Given the description of an element on the screen output the (x, y) to click on. 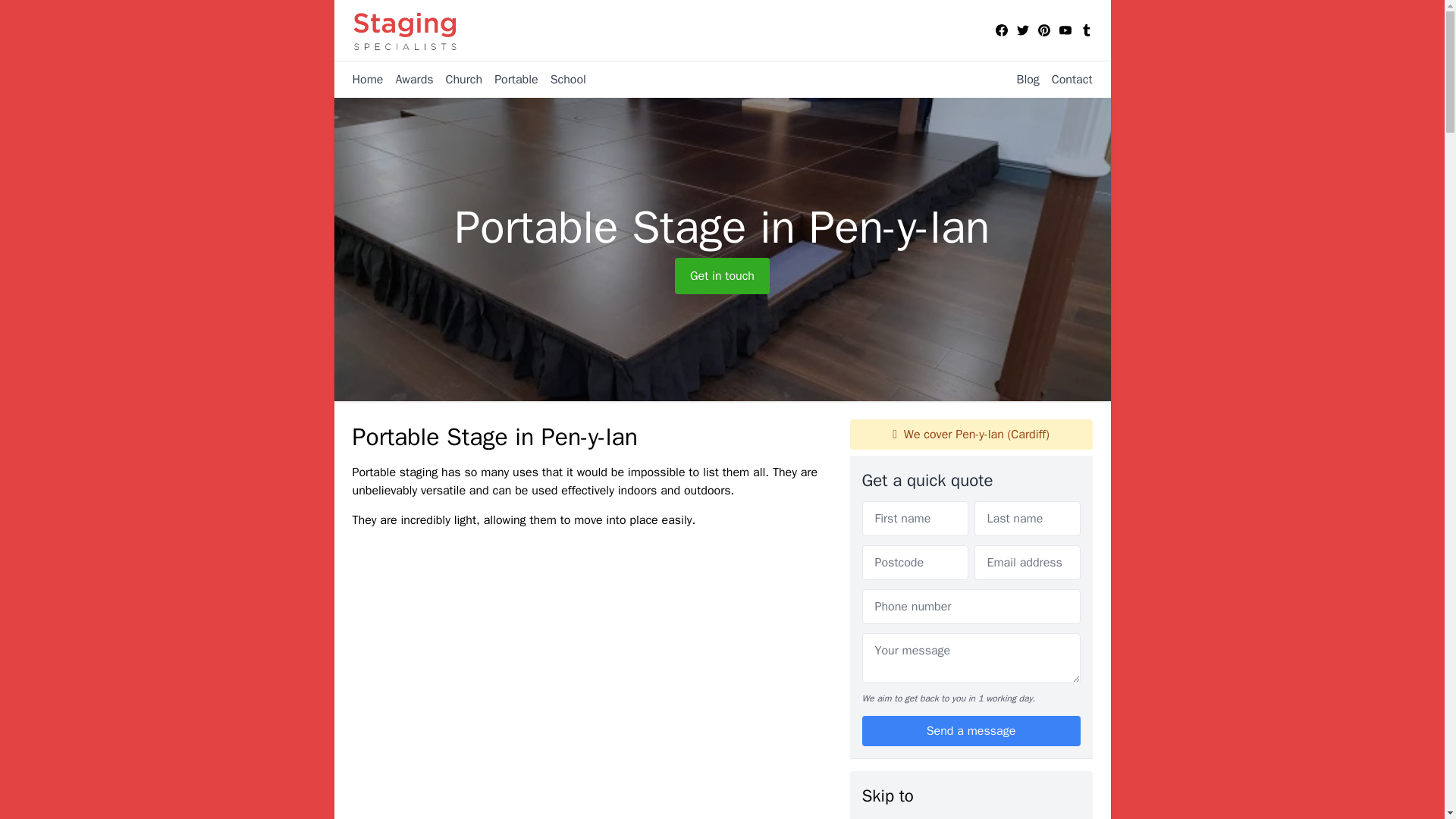
Church (458, 79)
Awards (407, 79)
Contact (1066, 79)
Blog (1021, 79)
Get in touch (722, 275)
Portable Stages UK (912, 818)
Send a message (970, 730)
School (562, 79)
Portable Stages UK (912, 818)
Home (367, 79)
Portable (509, 79)
